Given the description of an element on the screen output the (x, y) to click on. 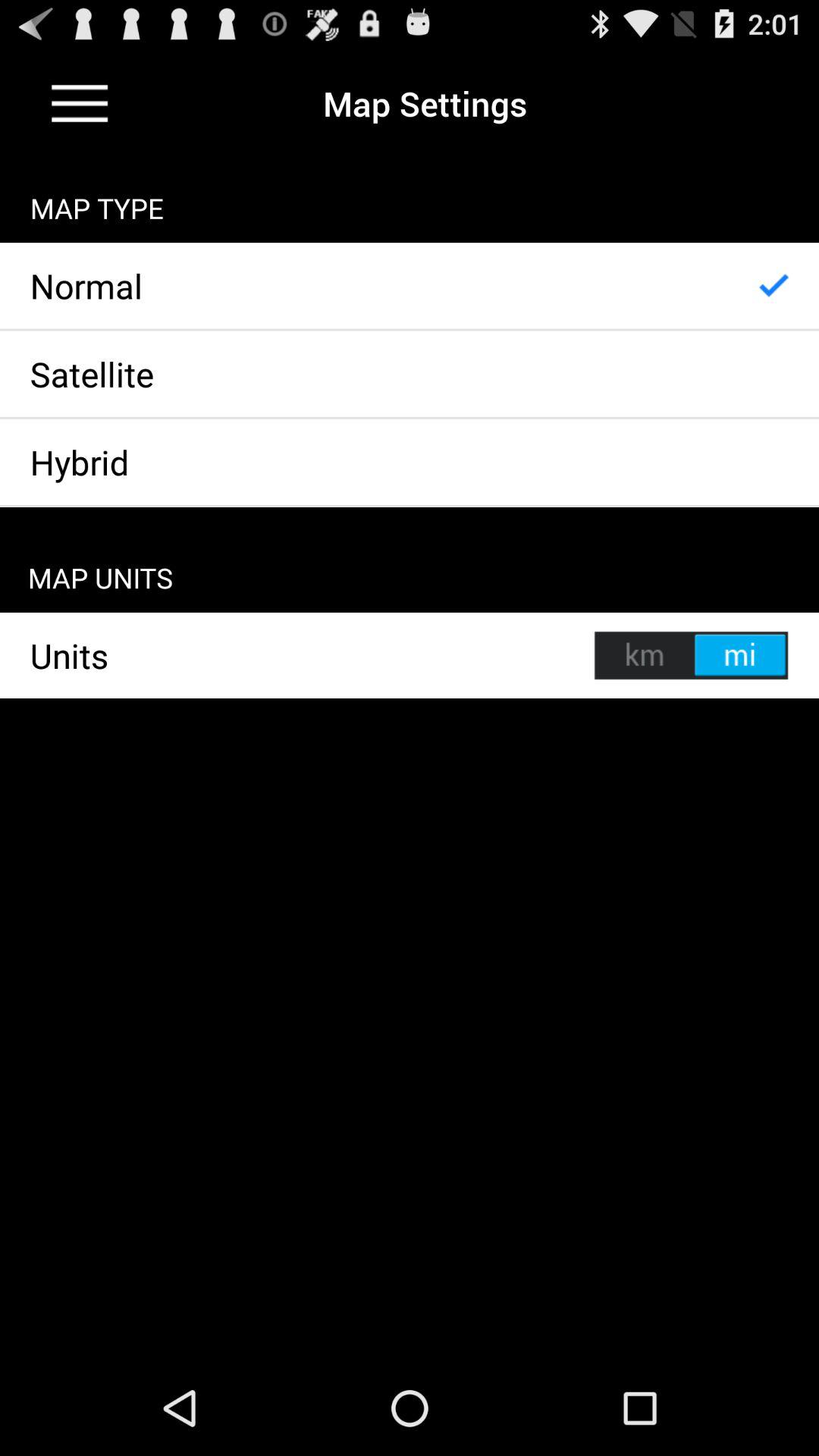
menu option (79, 103)
